Given the description of an element on the screen output the (x, y) to click on. 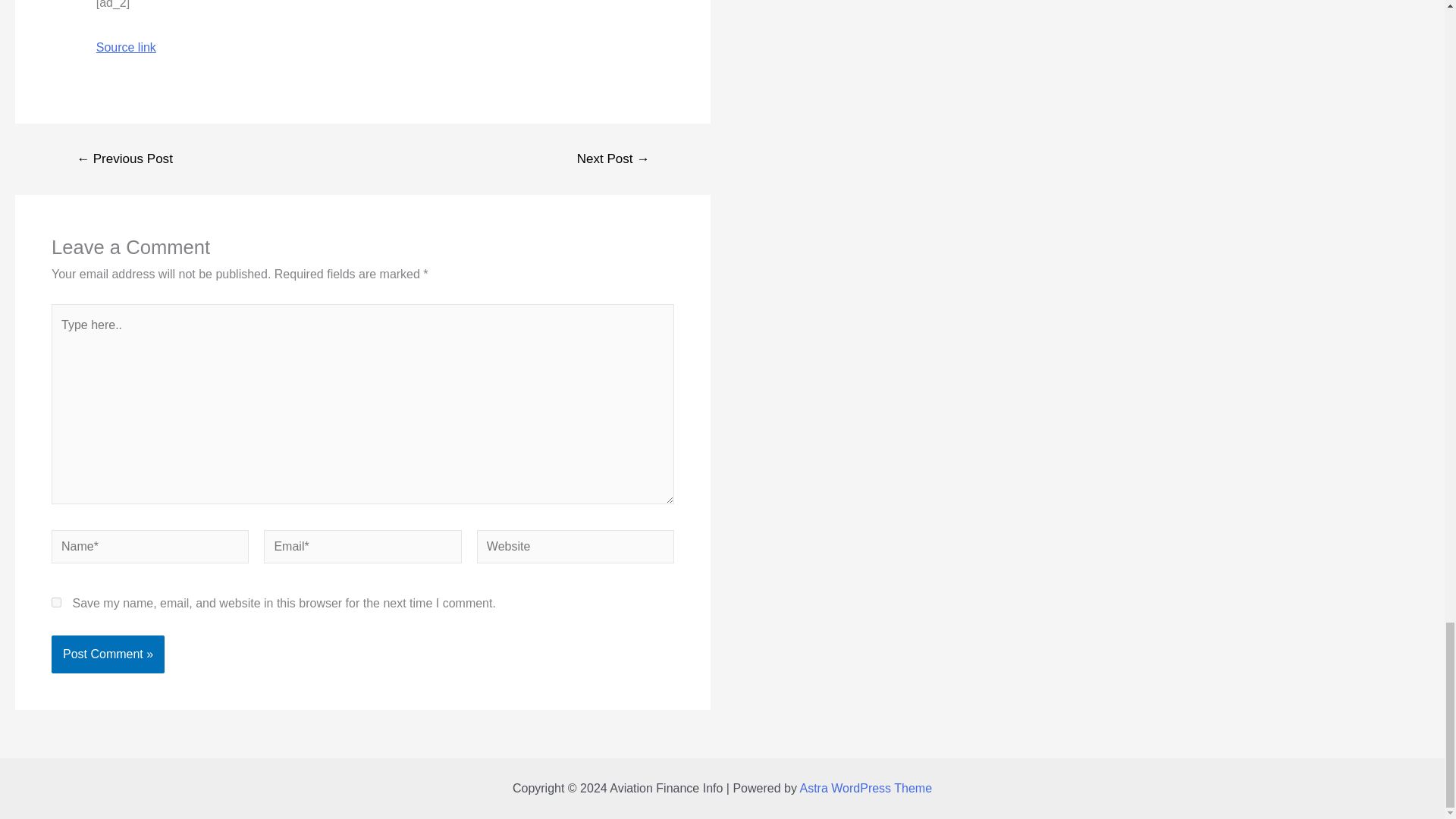
yes (55, 602)
